Given the description of an element on the screen output the (x, y) to click on. 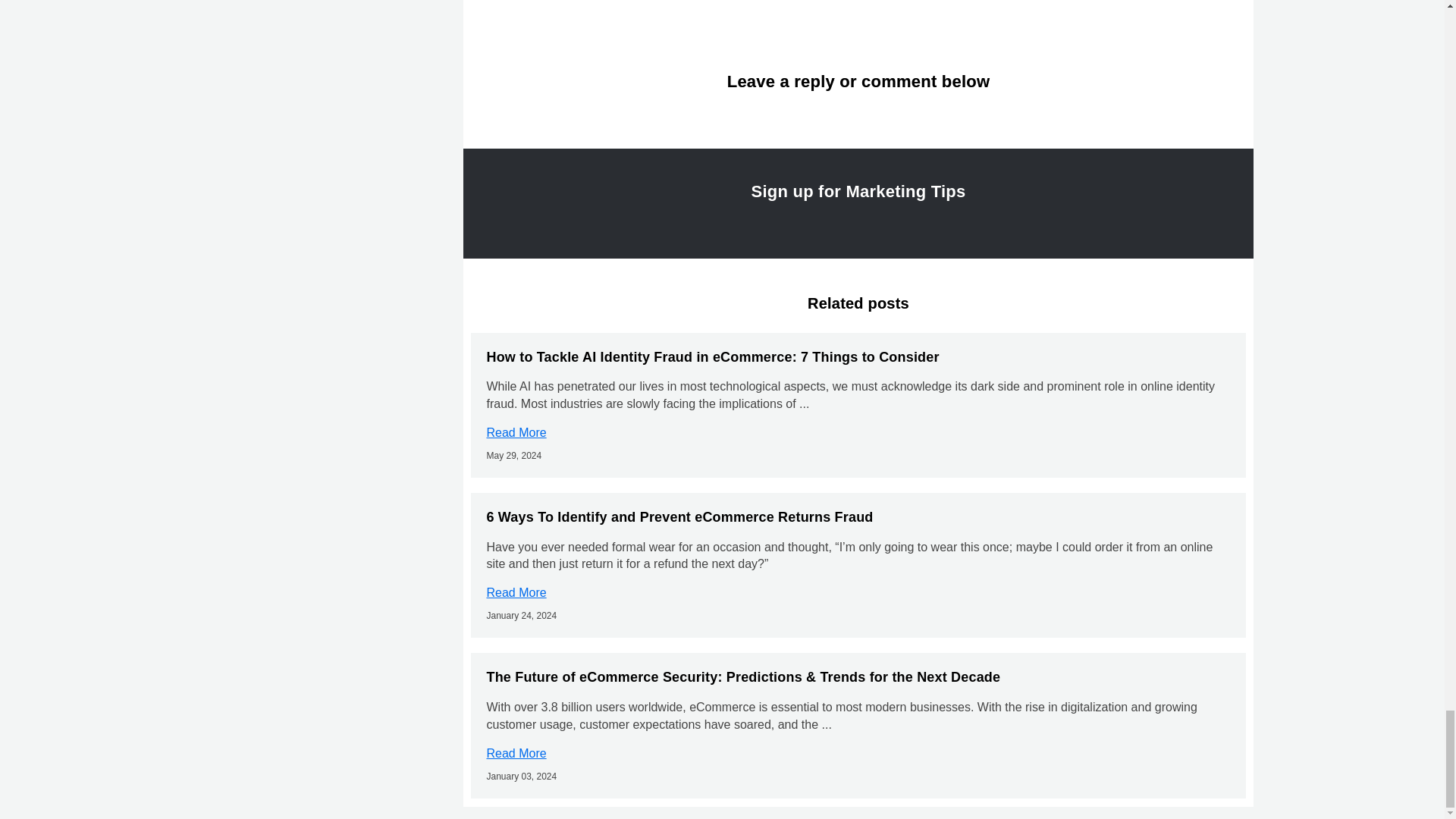
6 Ways To Identify and Prevent eCommerce Returns Fraud (679, 516)
Read More (516, 431)
Read More (516, 592)
Read More (516, 753)
